Given the description of an element on the screen output the (x, y) to click on. 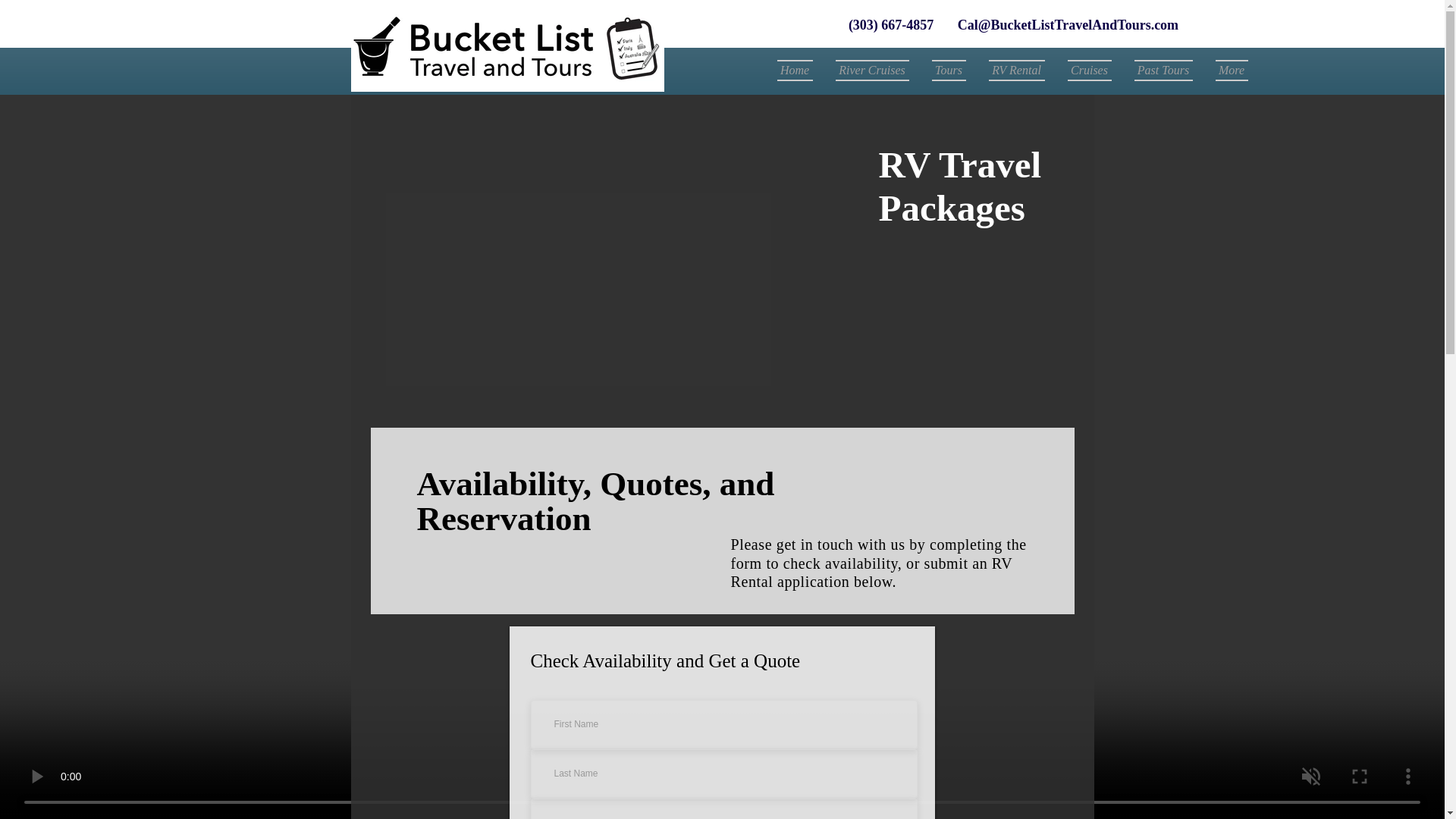
Cruises (1088, 70)
RV Rental (1015, 70)
Home (800, 70)
